Given the description of an element on the screen output the (x, y) to click on. 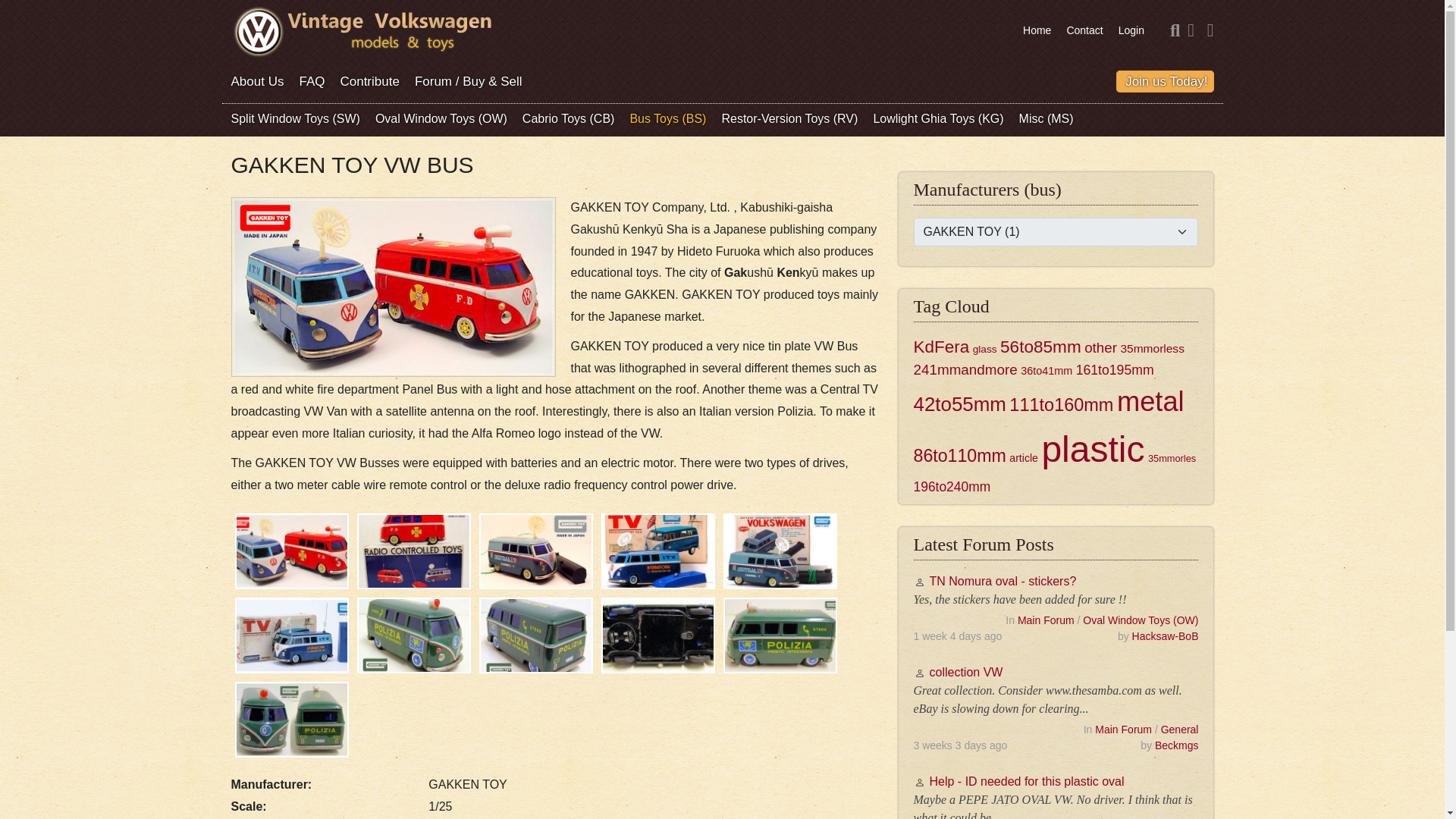
Home (1037, 30)
Contribute (368, 81)
Join us Today! (1166, 81)
Login (1131, 30)
Contact (1083, 30)
FAQ (311, 81)
About Us (256, 81)
